Given the description of an element on the screen output the (x, y) to click on. 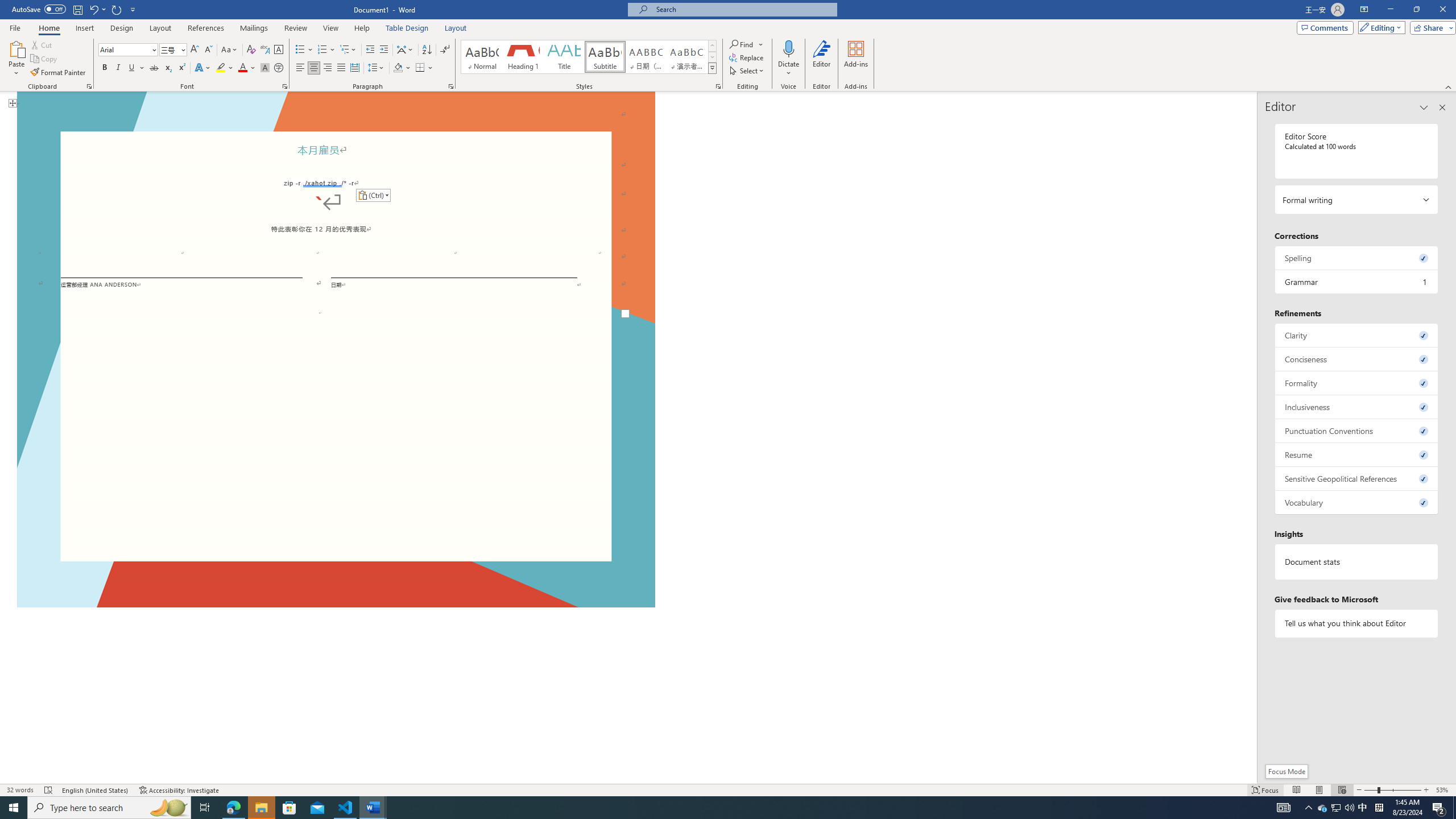
Tell us what you think about Editor (1356, 623)
Word Count 32 words (19, 790)
